Given the description of an element on the screen output the (x, y) to click on. 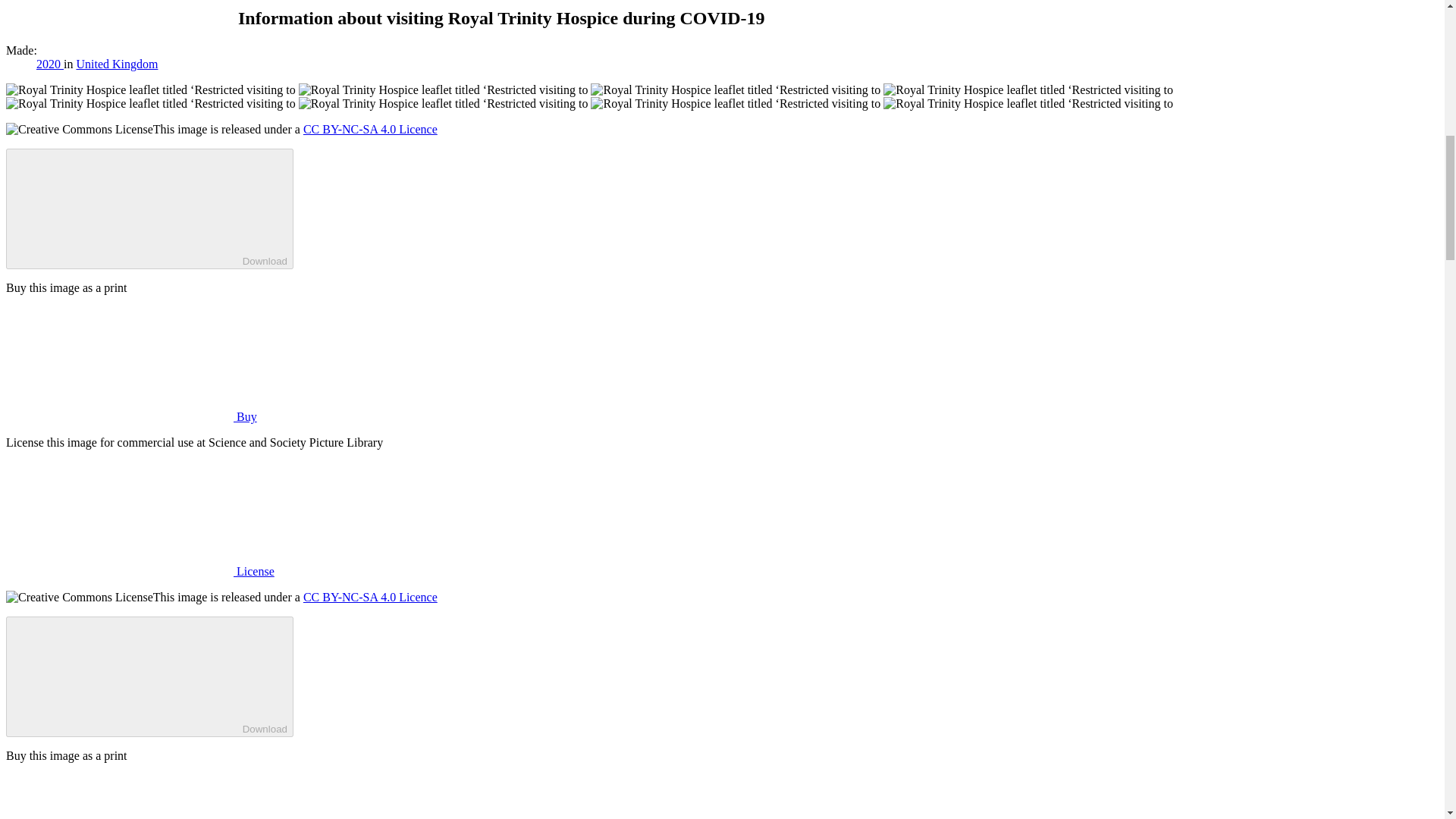
Download (149, 208)
License (140, 571)
CC BY-NC-SA 4.0 Licence (370, 128)
Download (149, 676)
United Kingdom (116, 63)
2020 (50, 63)
Buy (131, 416)
CC BY-NC-SA 4.0 Licence (370, 596)
